Given the description of an element on the screen output the (x, y) to click on. 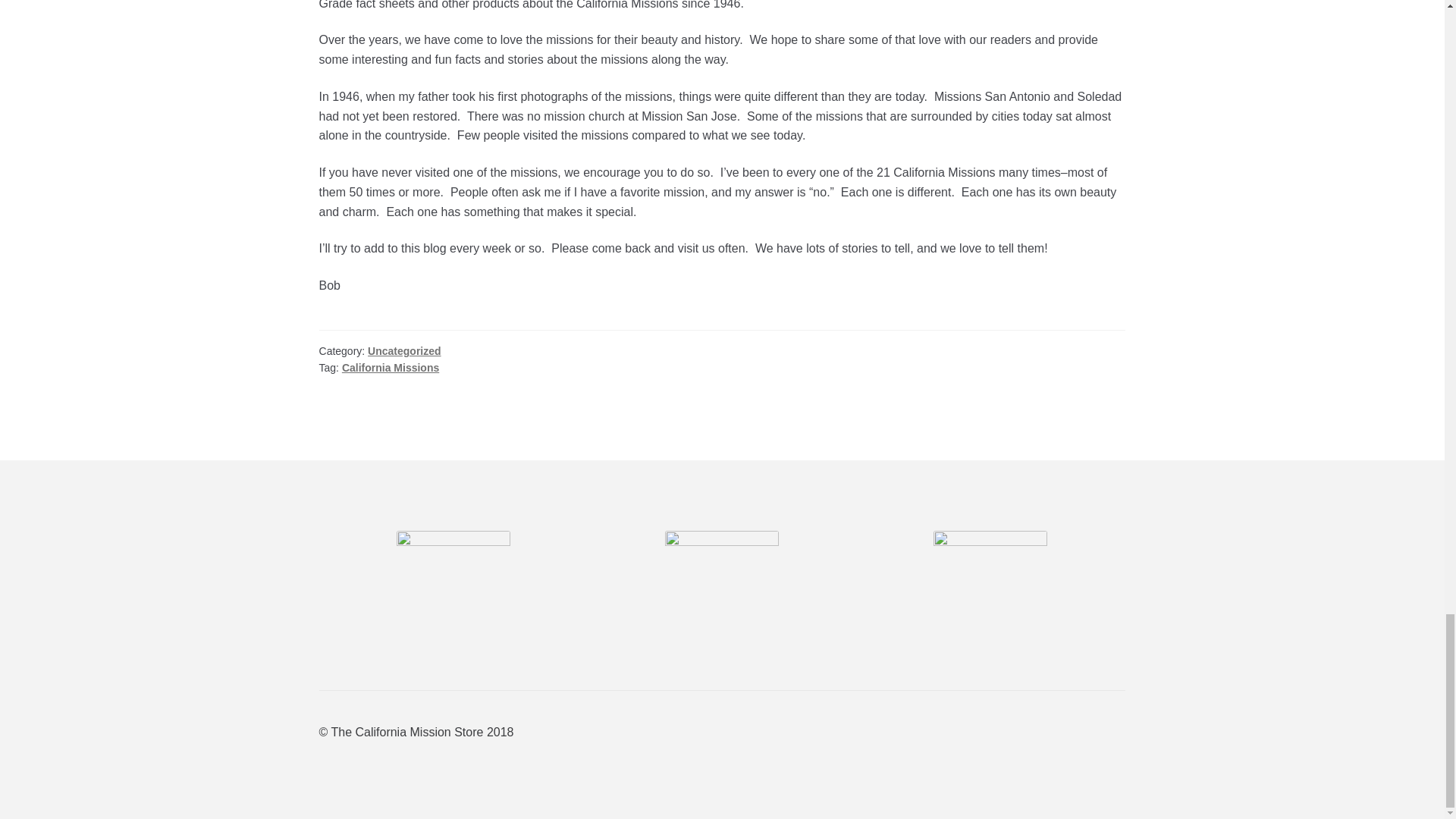
Uncategorized (404, 350)
California Missions (390, 367)
